Given the description of an element on the screen output the (x, y) to click on. 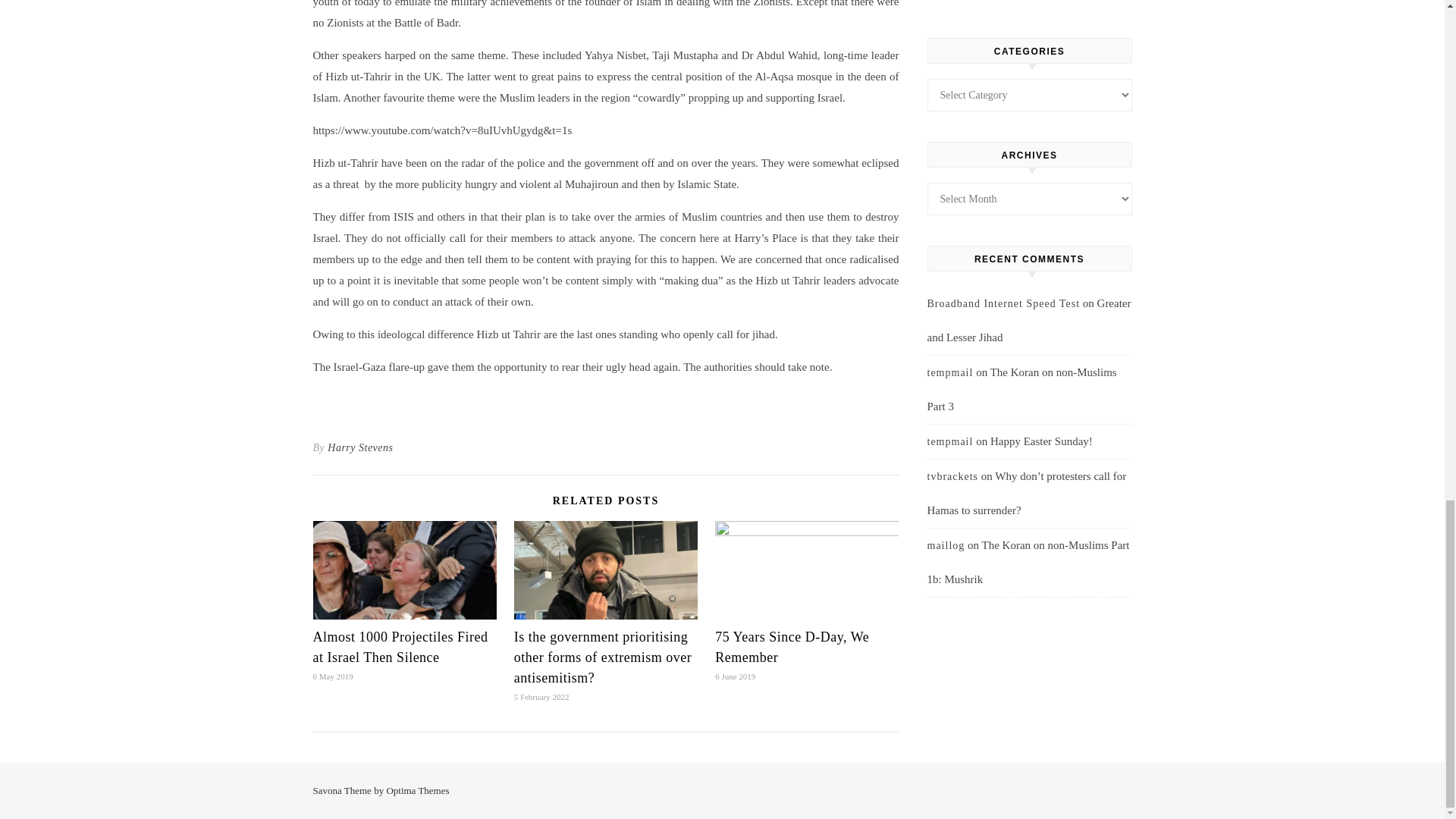
75 Years Since D-Day, We Remember (791, 647)
Almost 1000 Projectiles Fired at Israel Then Silence (400, 647)
Posts by Harry Stevens (360, 447)
Harry Stevens (360, 447)
